Given the description of an element on the screen output the (x, y) to click on. 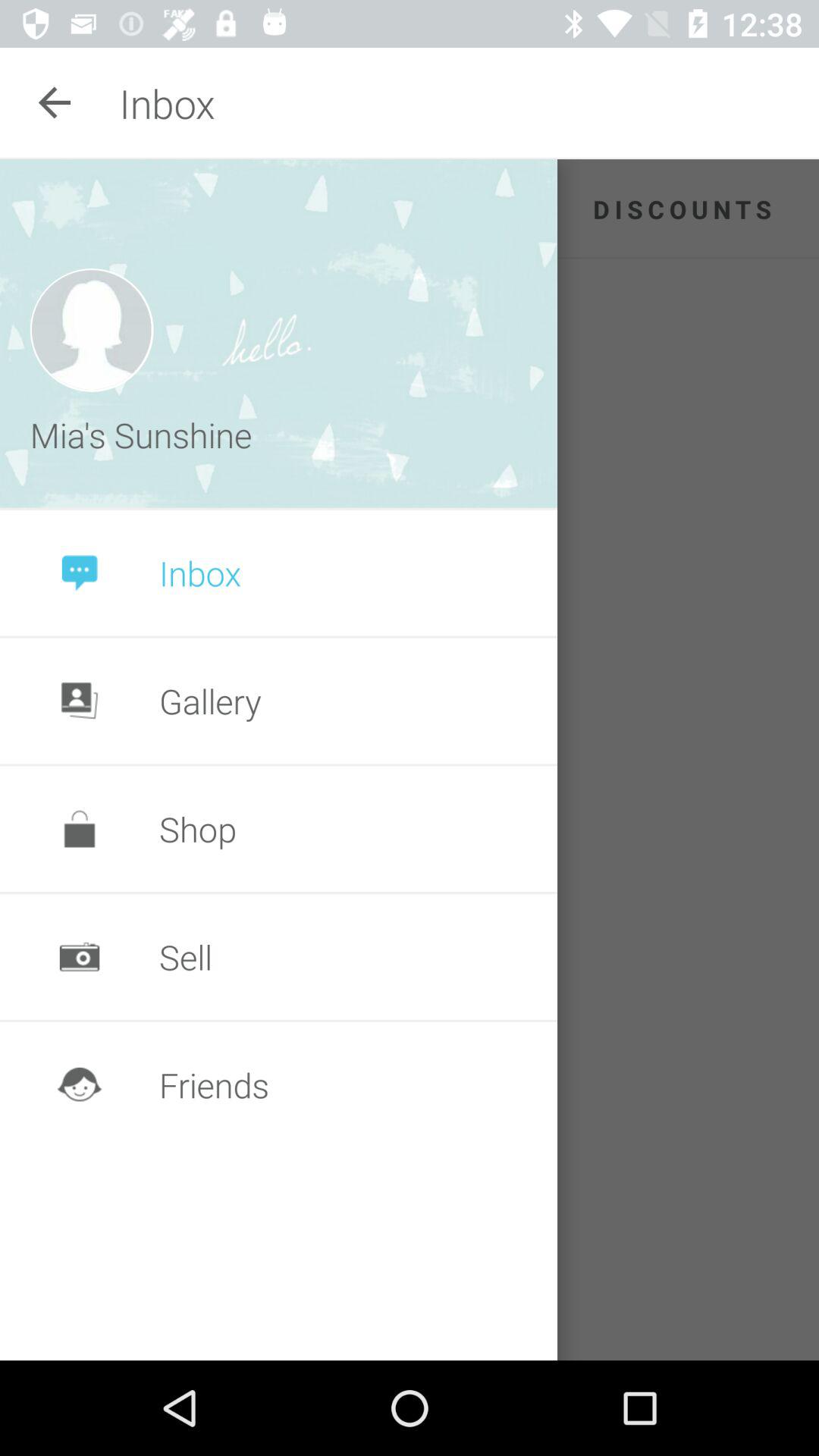
turn on the icon next to inbox item (55, 103)
